Given the description of an element on the screen output the (x, y) to click on. 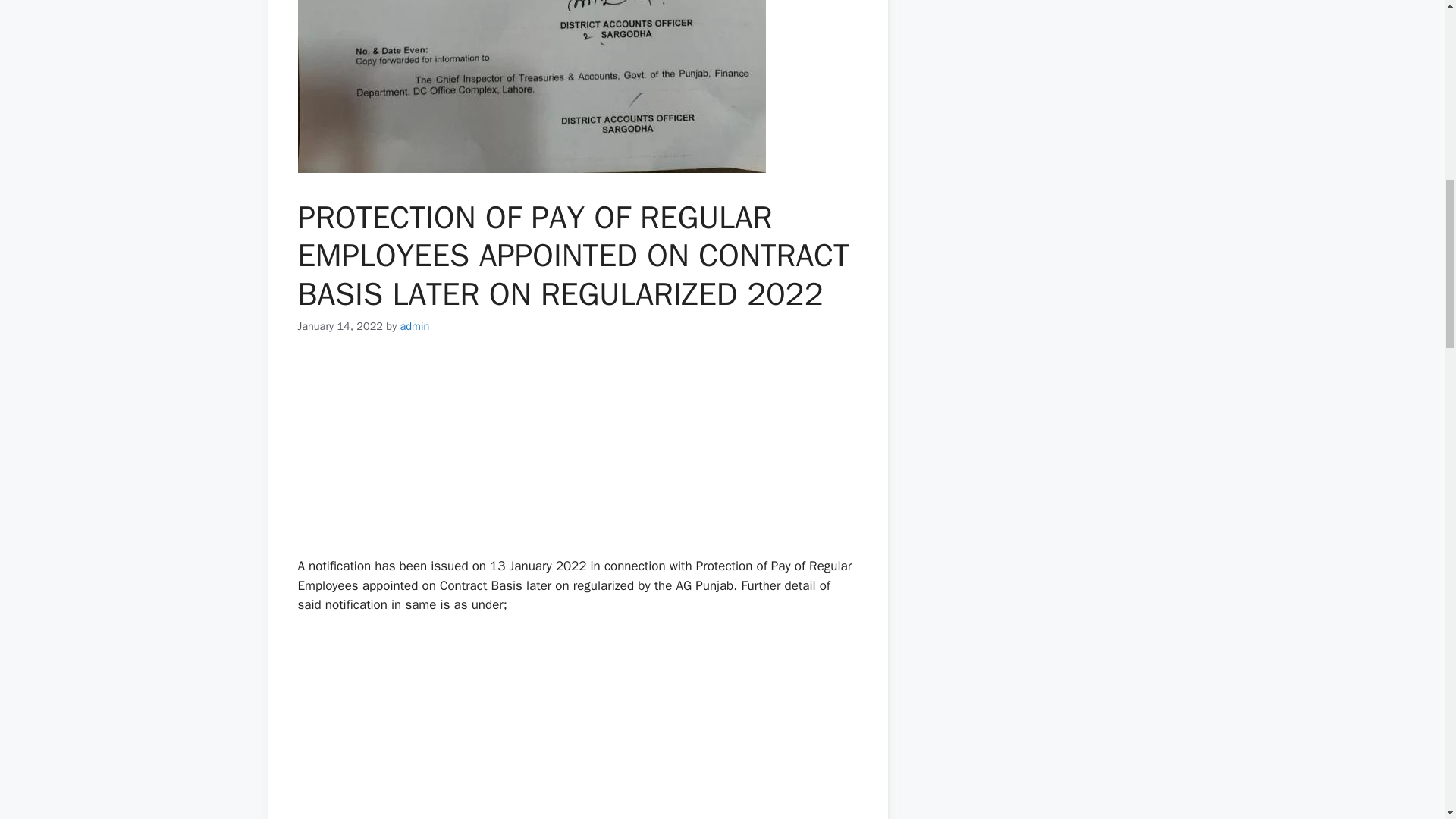
admin (414, 325)
View all posts by admin (414, 325)
